Given the description of an element on the screen output the (x, y) to click on. 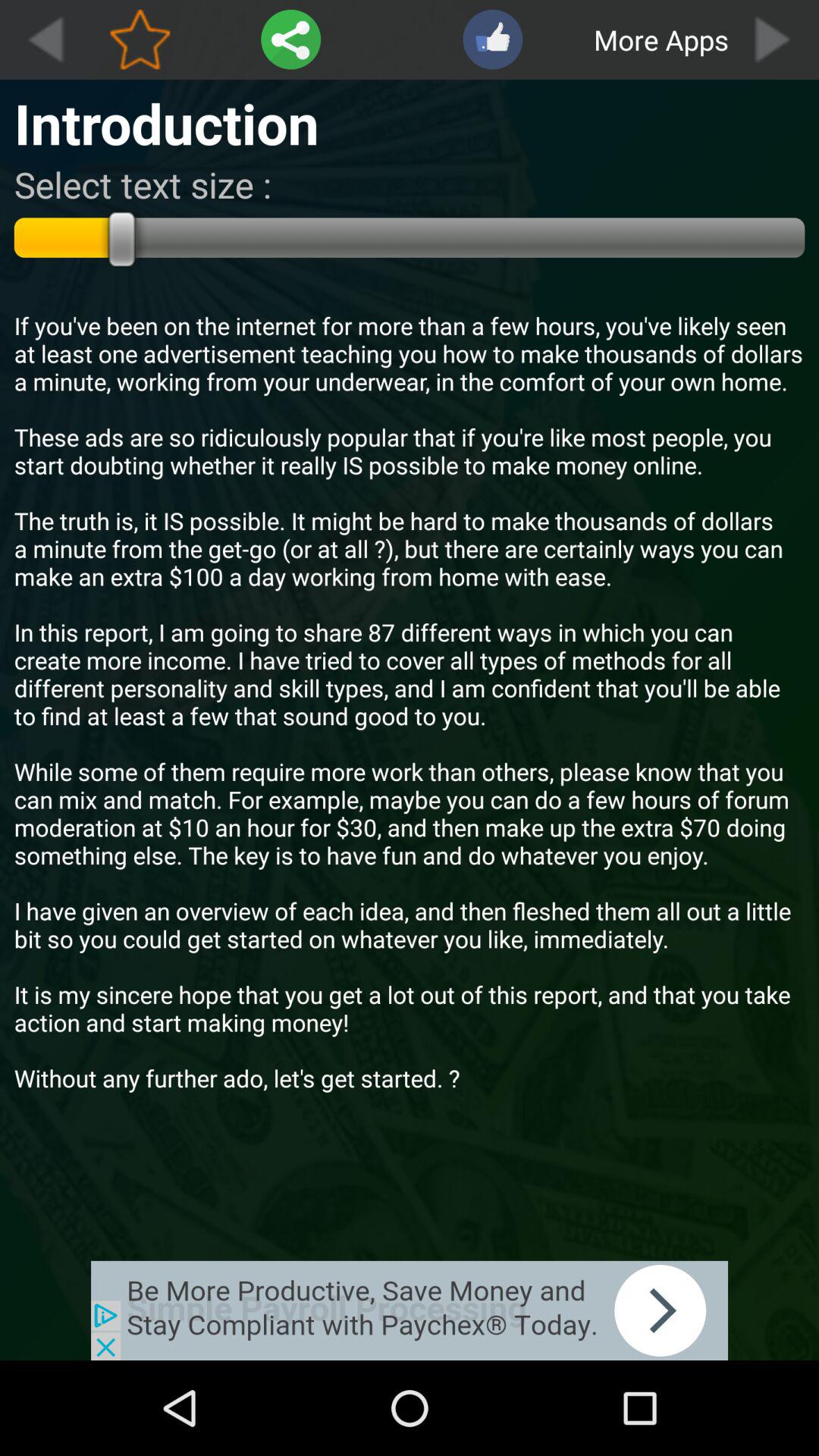
backward (45, 39)
